Given the description of an element on the screen output the (x, y) to click on. 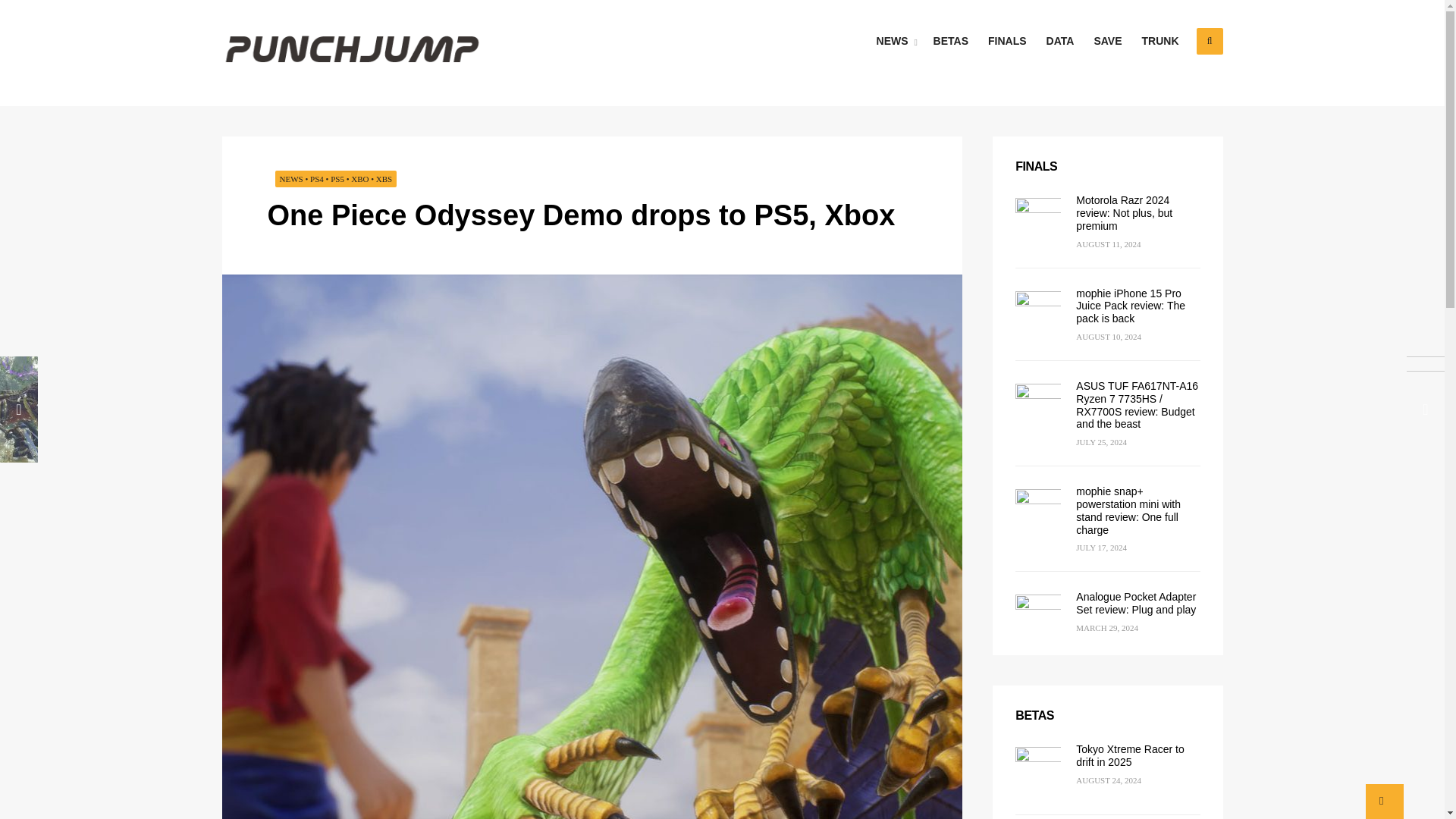
NEWS (290, 178)
FINALS (1035, 165)
XBO (359, 178)
mophie iPhone 15 Pro Juice Pack review: The pack is back (1130, 306)
Motorola Razr 2024 review: Not plus, but premium (1123, 212)
DATA (1060, 40)
NEWS (895, 40)
PS5 (336, 178)
Analogue Pocket Adapter Set review: Plug and play (1135, 602)
FINALS (1006, 40)
